Given the description of an element on the screen output the (x, y) to click on. 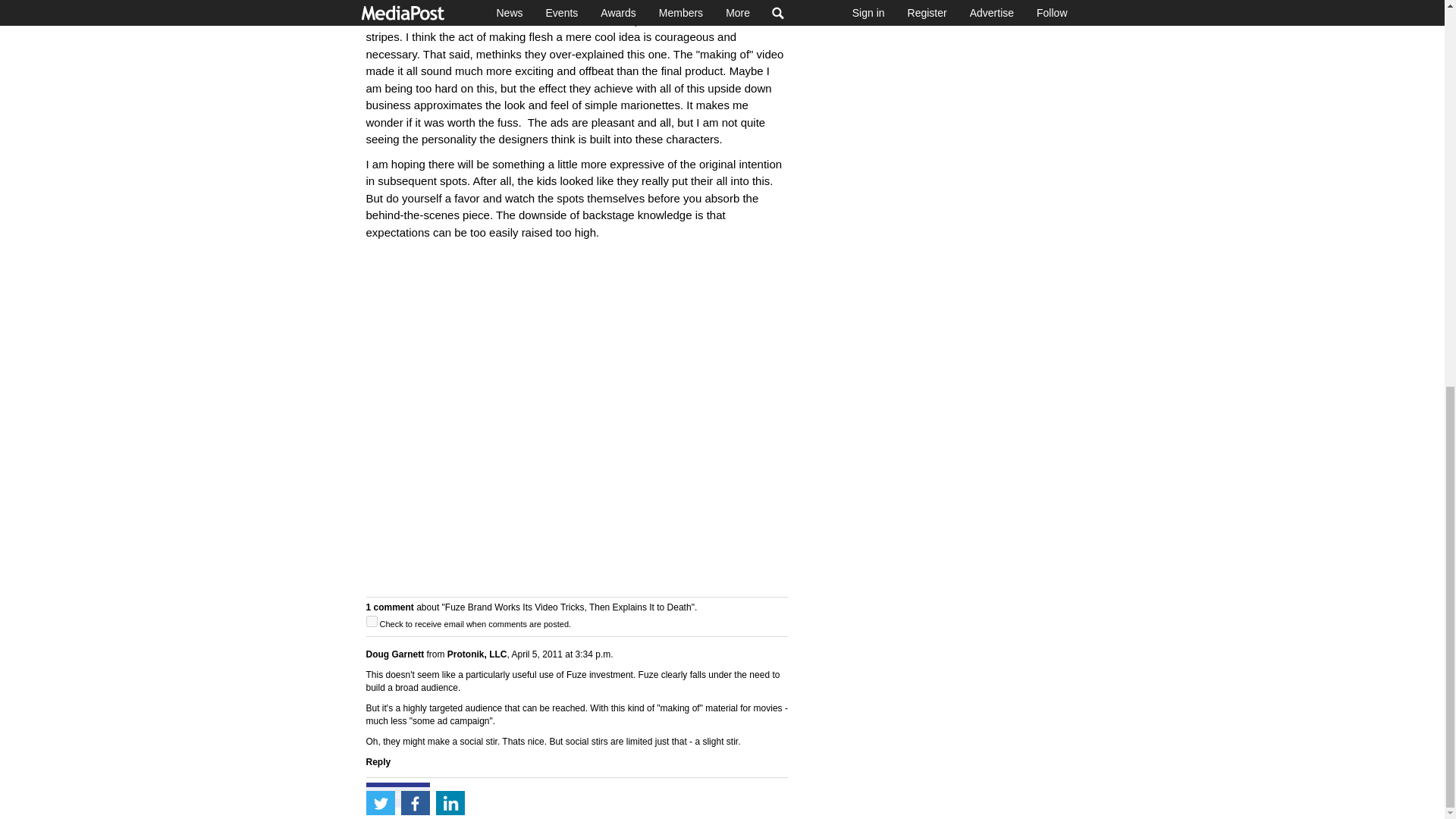
Share on Facebook (414, 71)
Share on LinkedIn (449, 71)
on (371, 621)
Share on Twitter (379, 71)
